Given the description of an element on the screen output the (x, y) to click on. 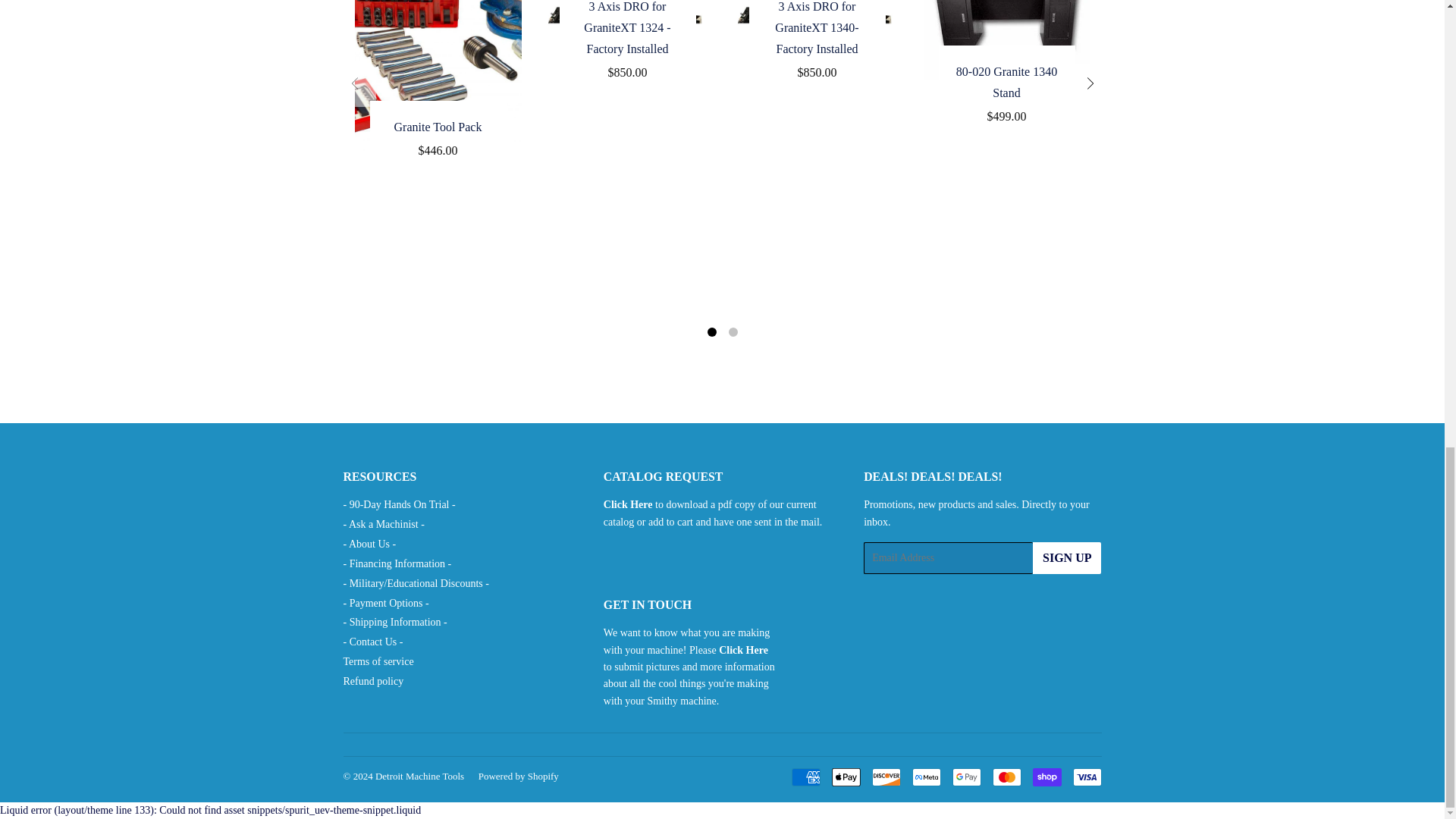
Visa (1085, 777)
Apple Pay (845, 777)
Discover (886, 777)
Mastercard (1005, 777)
Picture Submission of Projects Made on a Smithy (743, 649)
FREE Smithy Catalog (628, 504)
Shop Pay (1046, 777)
American Express (806, 777)
Google Pay (966, 777)
Meta Pay (925, 777)
